Given the description of an element on the screen output the (x, y) to click on. 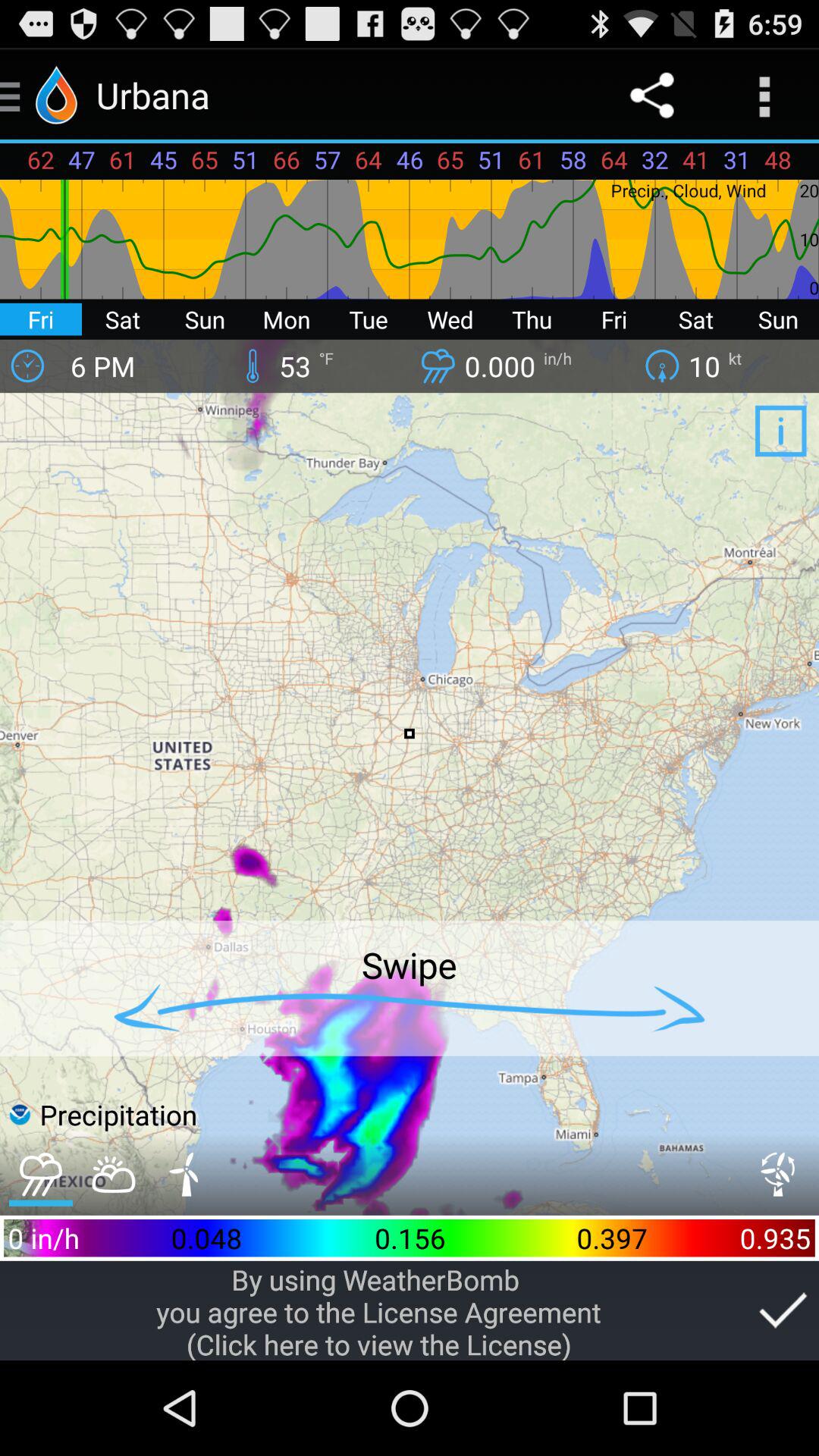
open app above 41 (763, 95)
